Given the description of an element on the screen output the (x, y) to click on. 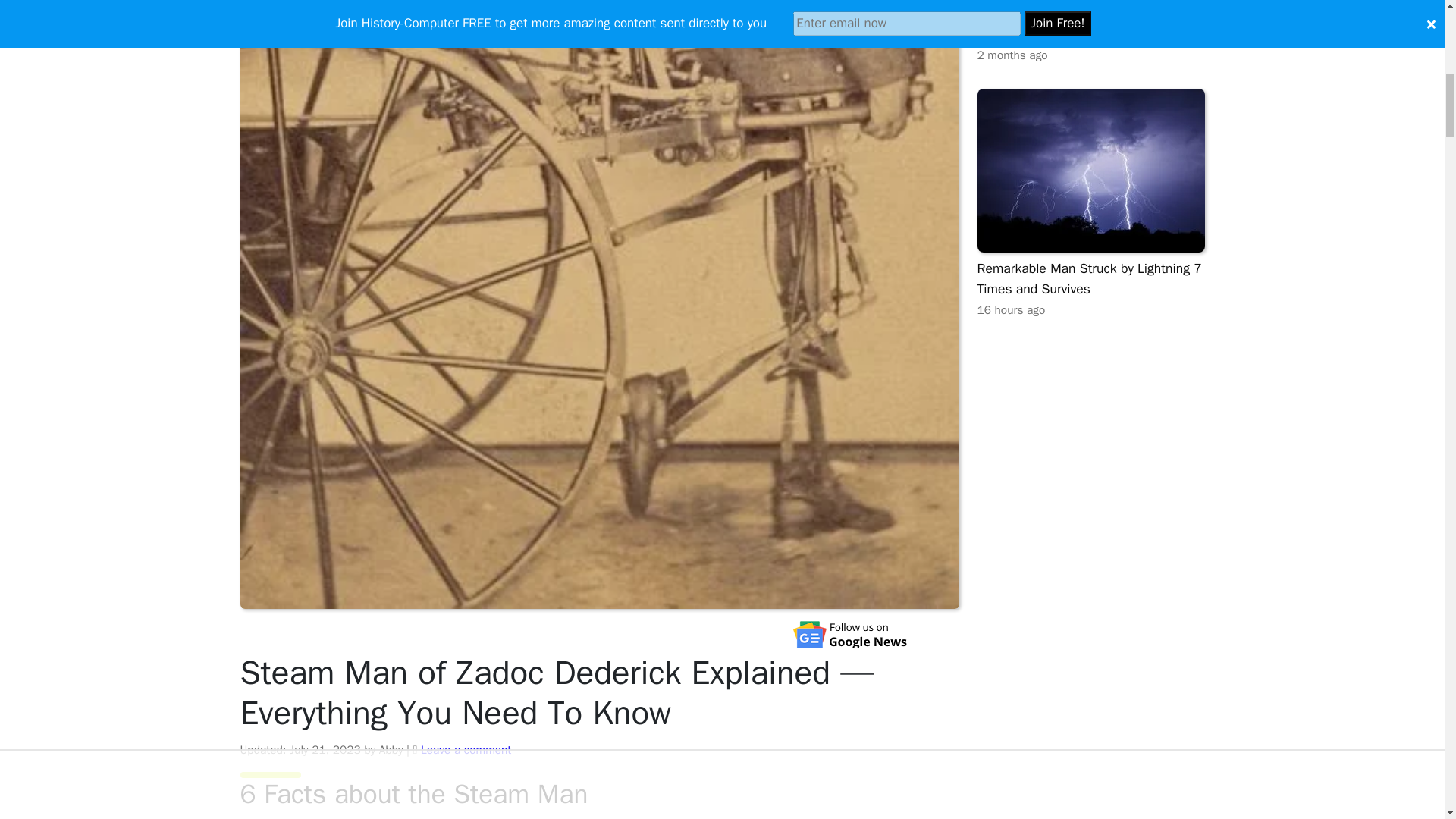
Leave a comment (465, 749)
Abby (390, 749)
